Given the description of an element on the screen output the (x, y) to click on. 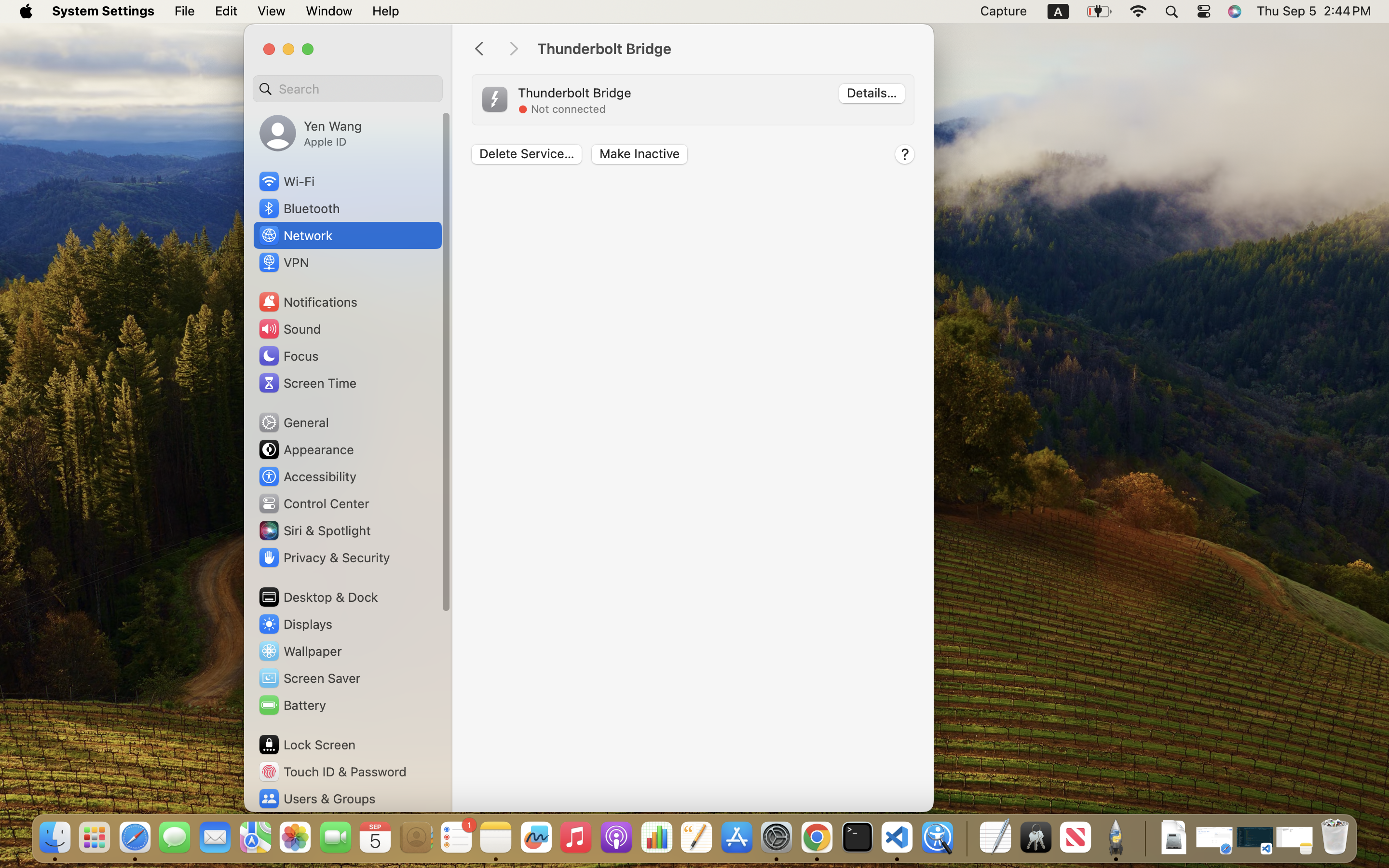
Desktop & Dock Element type: AXStaticText (317, 596)
Privacy & Security Element type: AXStaticText (323, 557)
VPN Element type: AXStaticText (282, 261)
Sound Element type: AXStaticText (289, 328)
Bluetooth Element type: AXStaticText (298, 207)
